Given the description of an element on the screen output the (x, y) to click on. 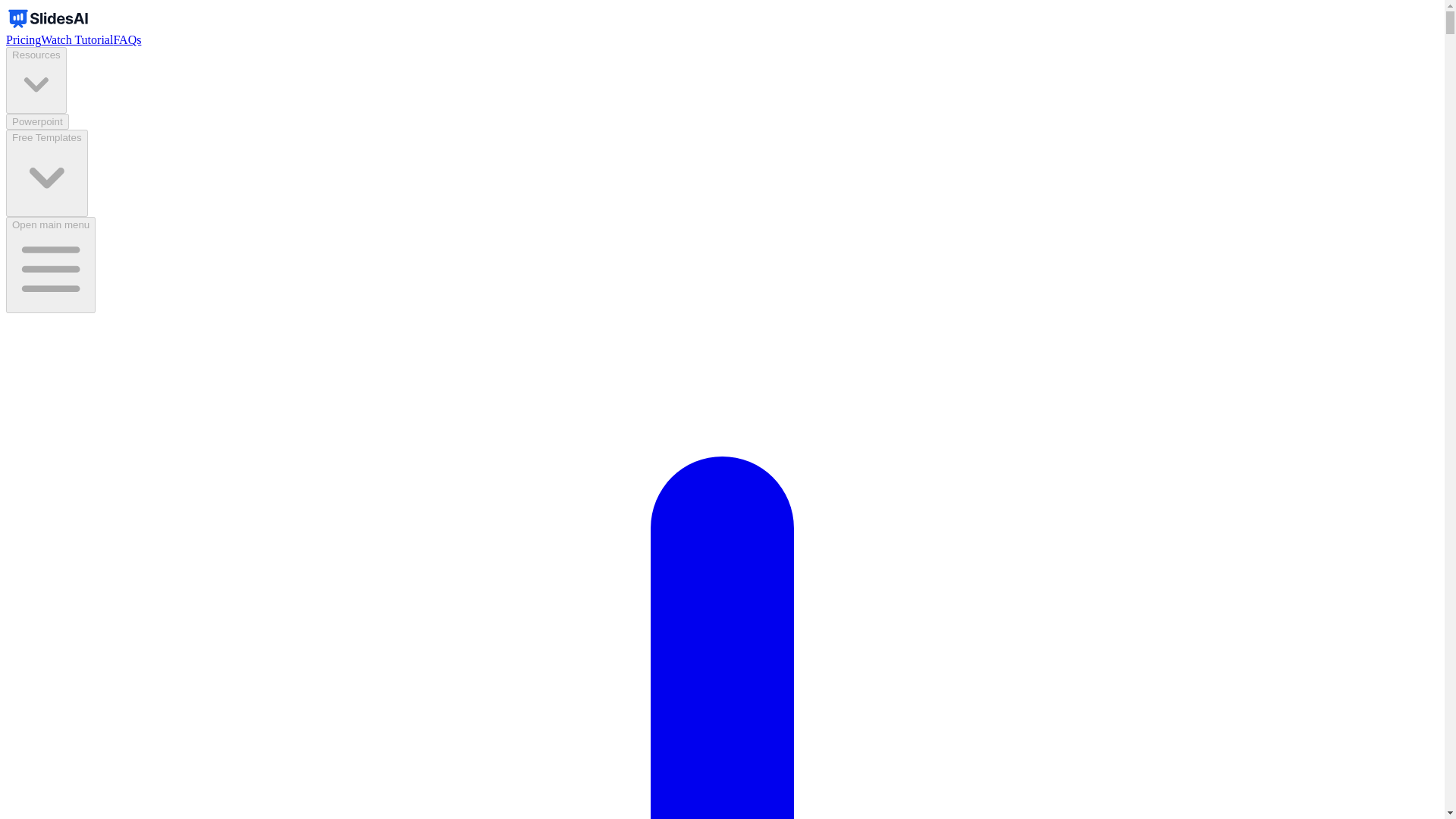
Open main menu (50, 264)
Watch Tutorial (76, 39)
Powepoint (36, 121)
FAQs (127, 39)
Powerpoint (36, 121)
Resources (35, 79)
Pricing (22, 39)
Pricing (22, 39)
FAQs (127, 39)
Free Templates (46, 173)
